Given the description of an element on the screen output the (x, y) to click on. 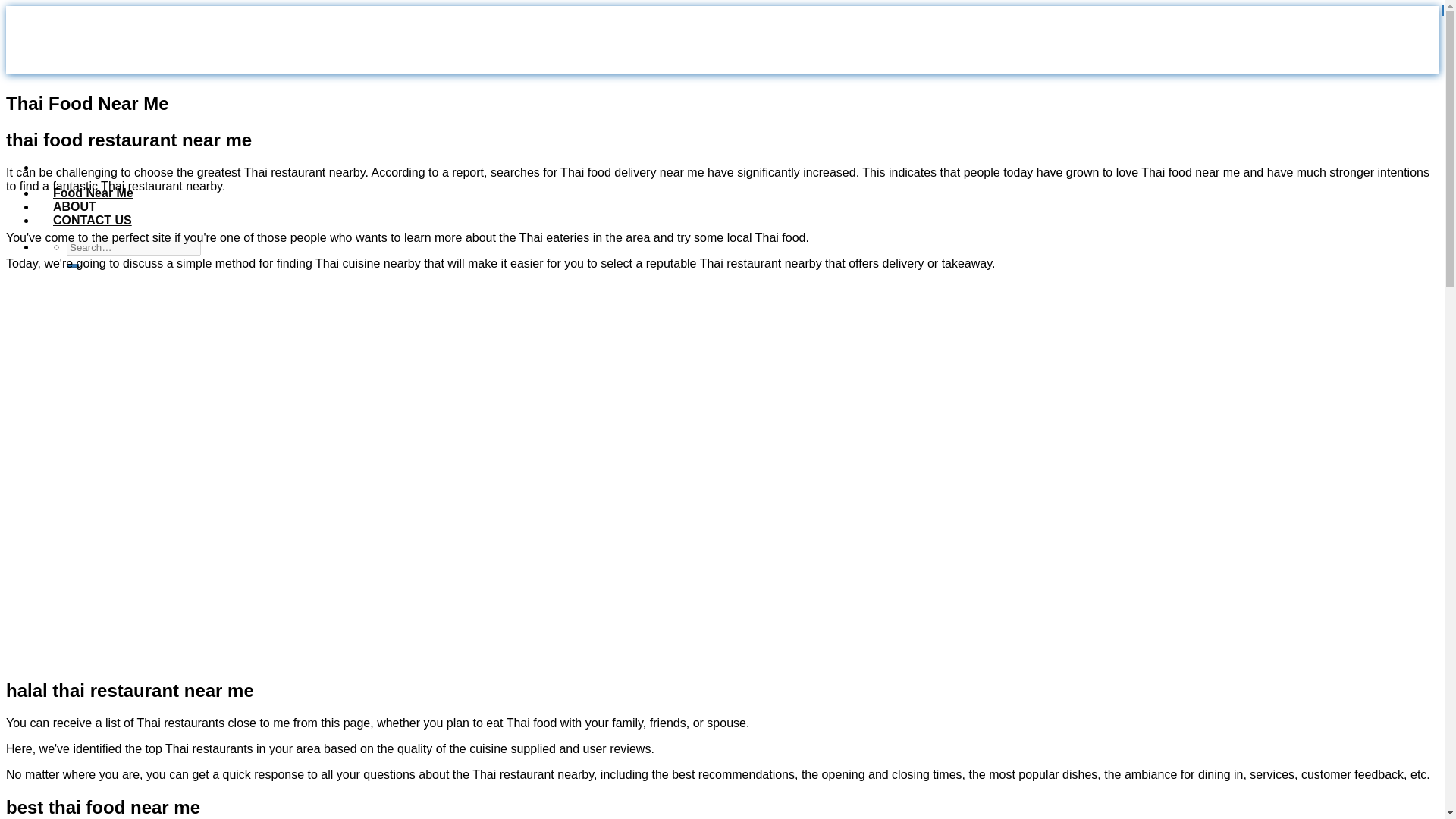
CONTACT US (98, 219)
Food Near Me (98, 192)
ABOUT (80, 205)
